Given the description of an element on the screen output the (x, y) to click on. 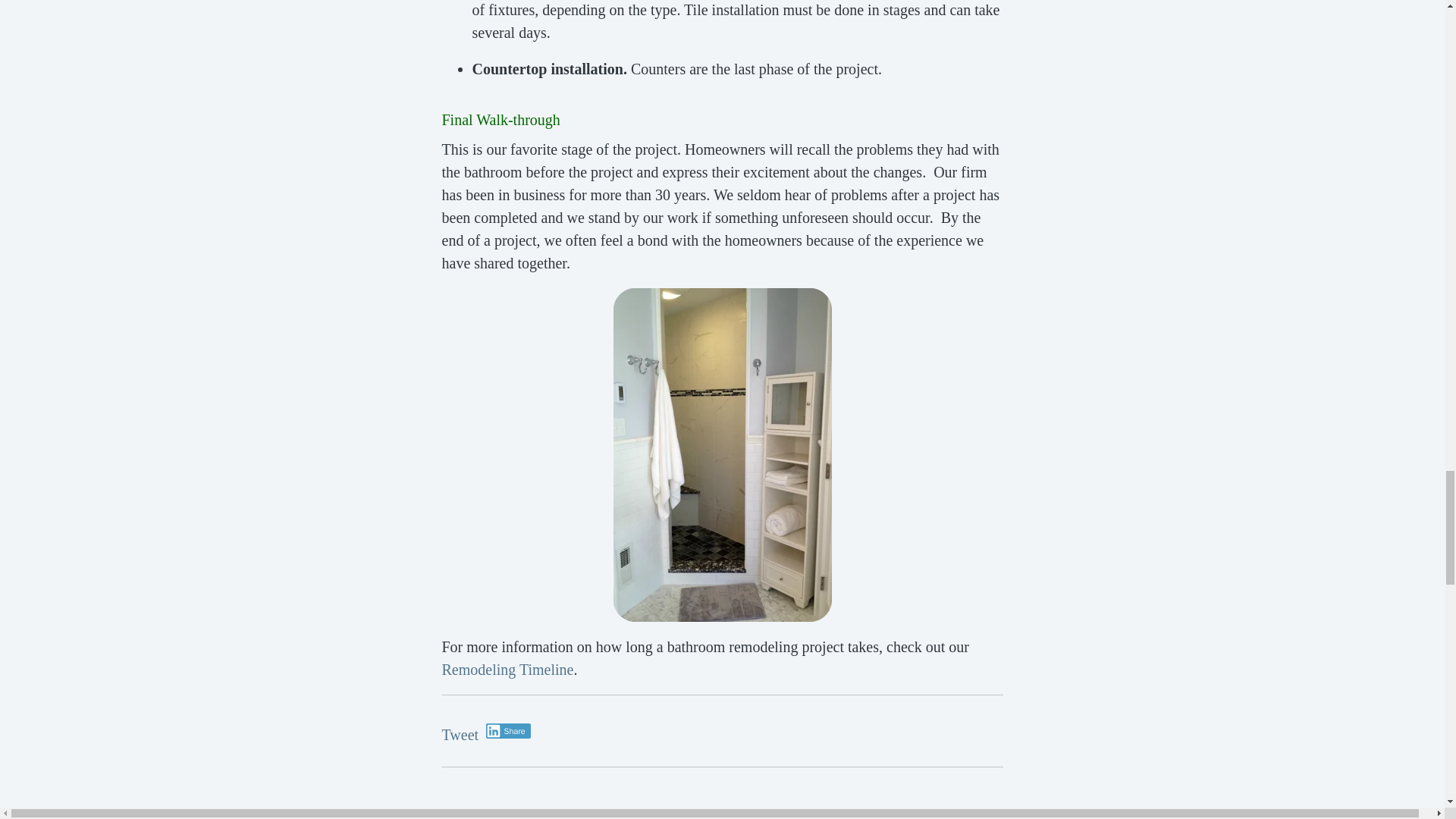
Remodeling Timeline (507, 669)
